Given the description of an element on the screen output the (x, y) to click on. 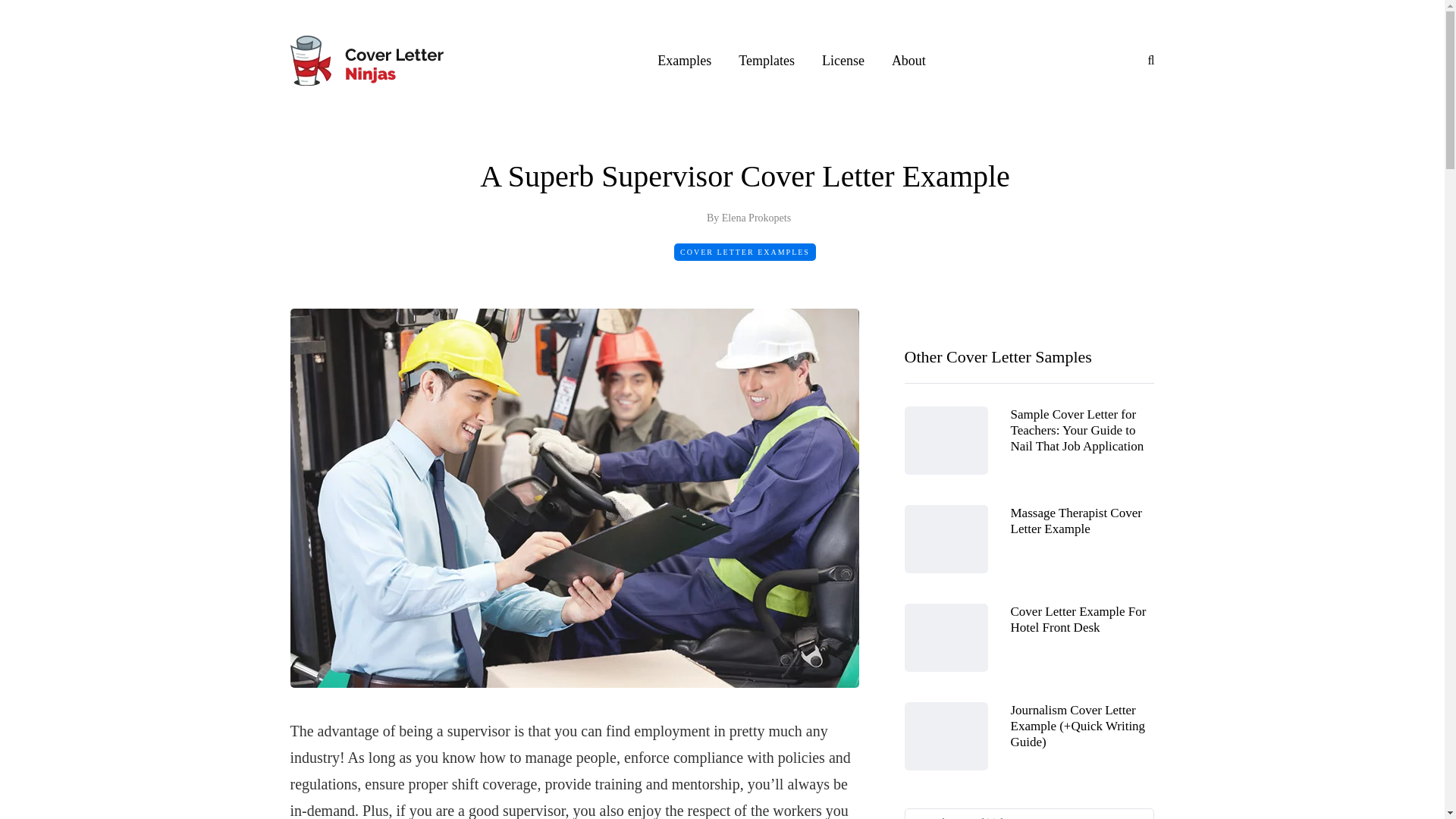
Search (43, 15)
Templates (766, 60)
Examples (684, 60)
Cover Letter Example For Hotel Front Desk (1077, 618)
About (908, 60)
License (842, 60)
COVER LETTER EXAMPLES (744, 251)
Massage Therapist Cover Letter Example (1075, 520)
